Given the description of an element on the screen output the (x, y) to click on. 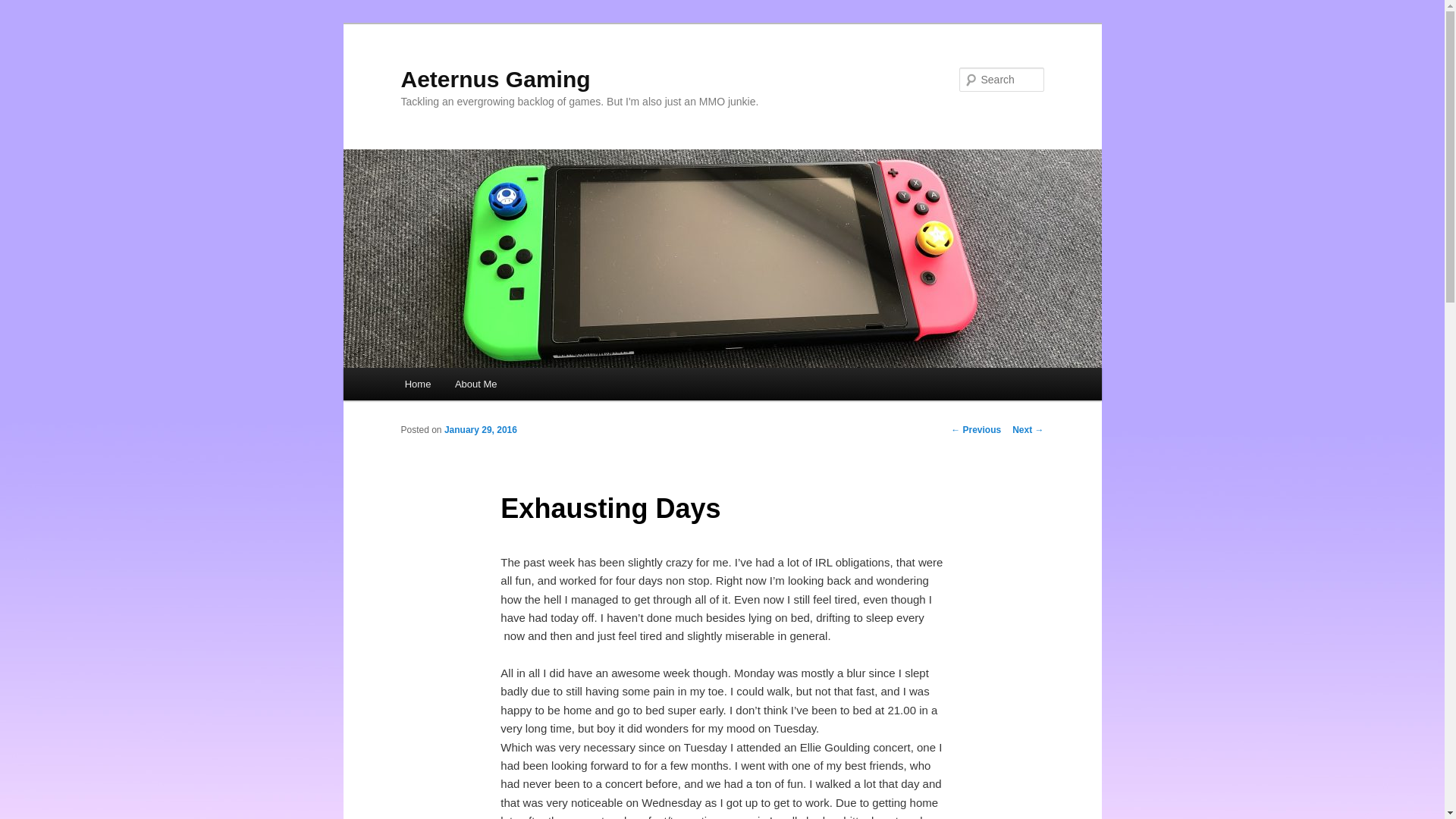
7:15 pm (480, 429)
About Me (475, 383)
January 29, 2016 (480, 429)
Aeternus Gaming (494, 78)
Search (24, 8)
Home (417, 383)
